Given the description of an element on the screen output the (x, y) to click on. 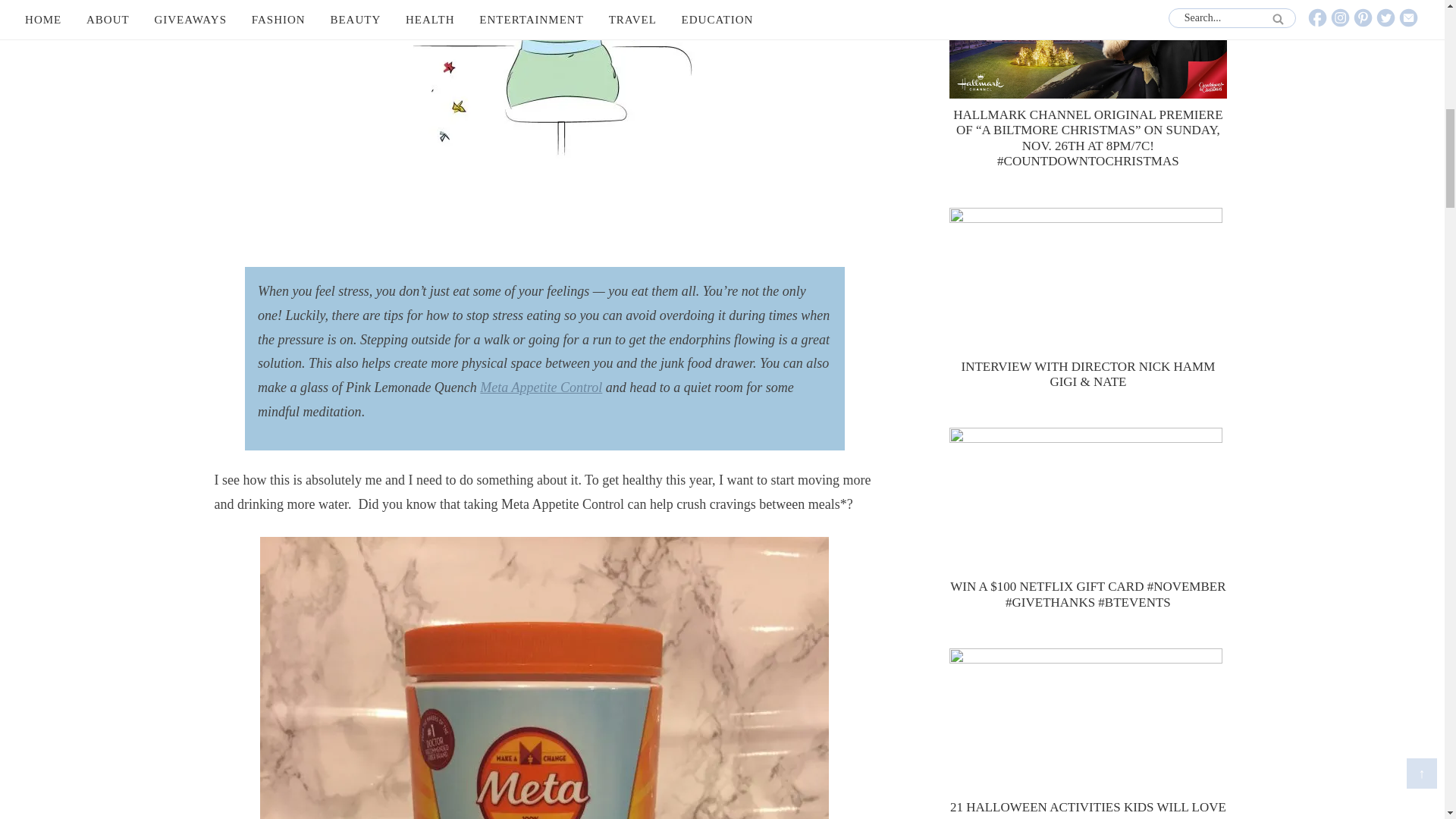
Meta Appetite Control (541, 387)
21 Halloween Activities Kids Will Love (1087, 807)
21 Halloween Activities Kids Will Love (1087, 721)
